Given the description of an element on the screen output the (x, y) to click on. 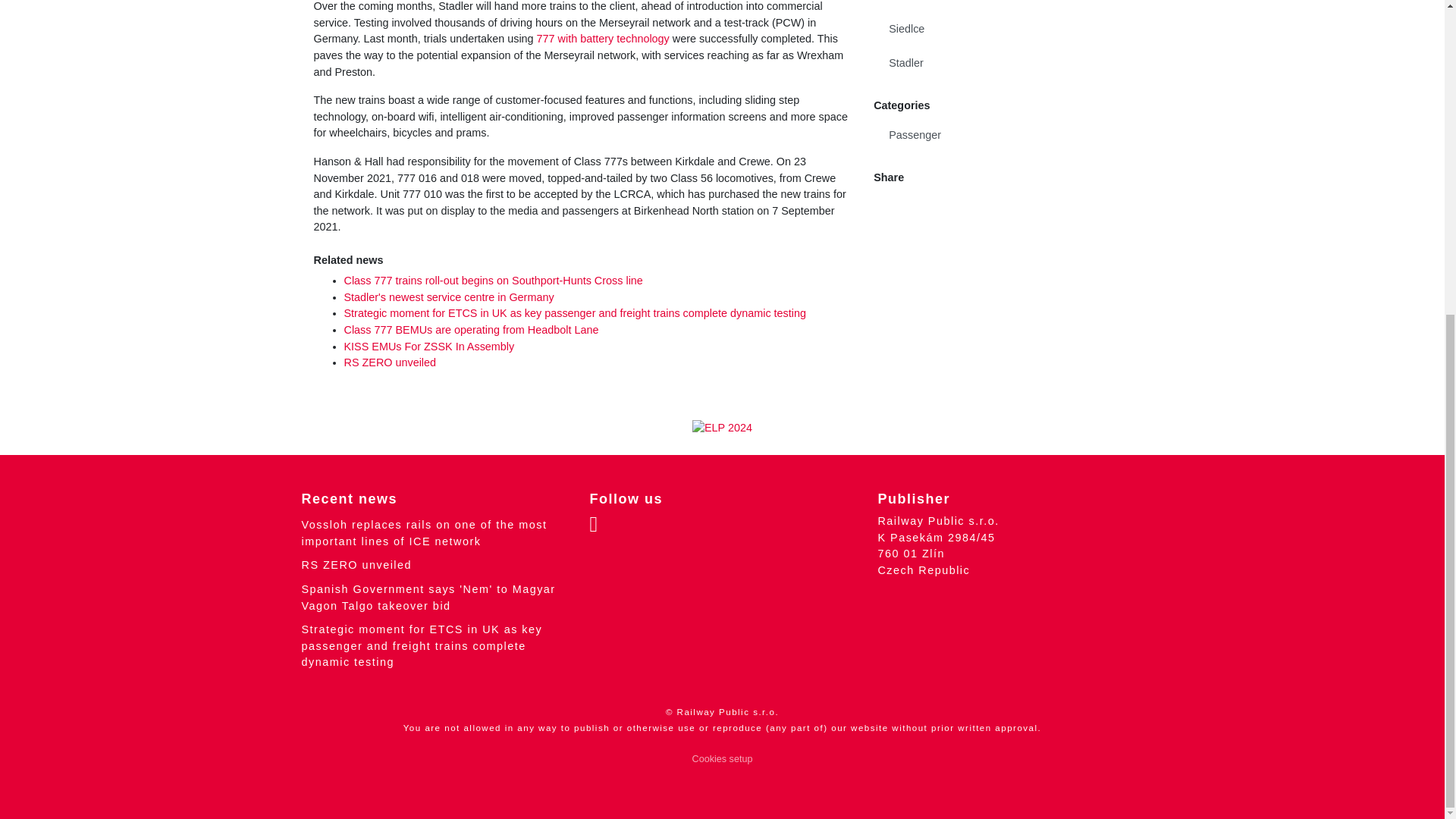
KISS EMUs For ZSSK In Assembly (429, 346)
Merseyrail (1002, 6)
777 with battery technology (603, 38)
Class 777 BEMUs are operating from Headbolt Lane (470, 329)
Siedlce (1002, 29)
Stadler's newest service centre in Germany (448, 297)
